Given the description of an element on the screen output the (x, y) to click on. 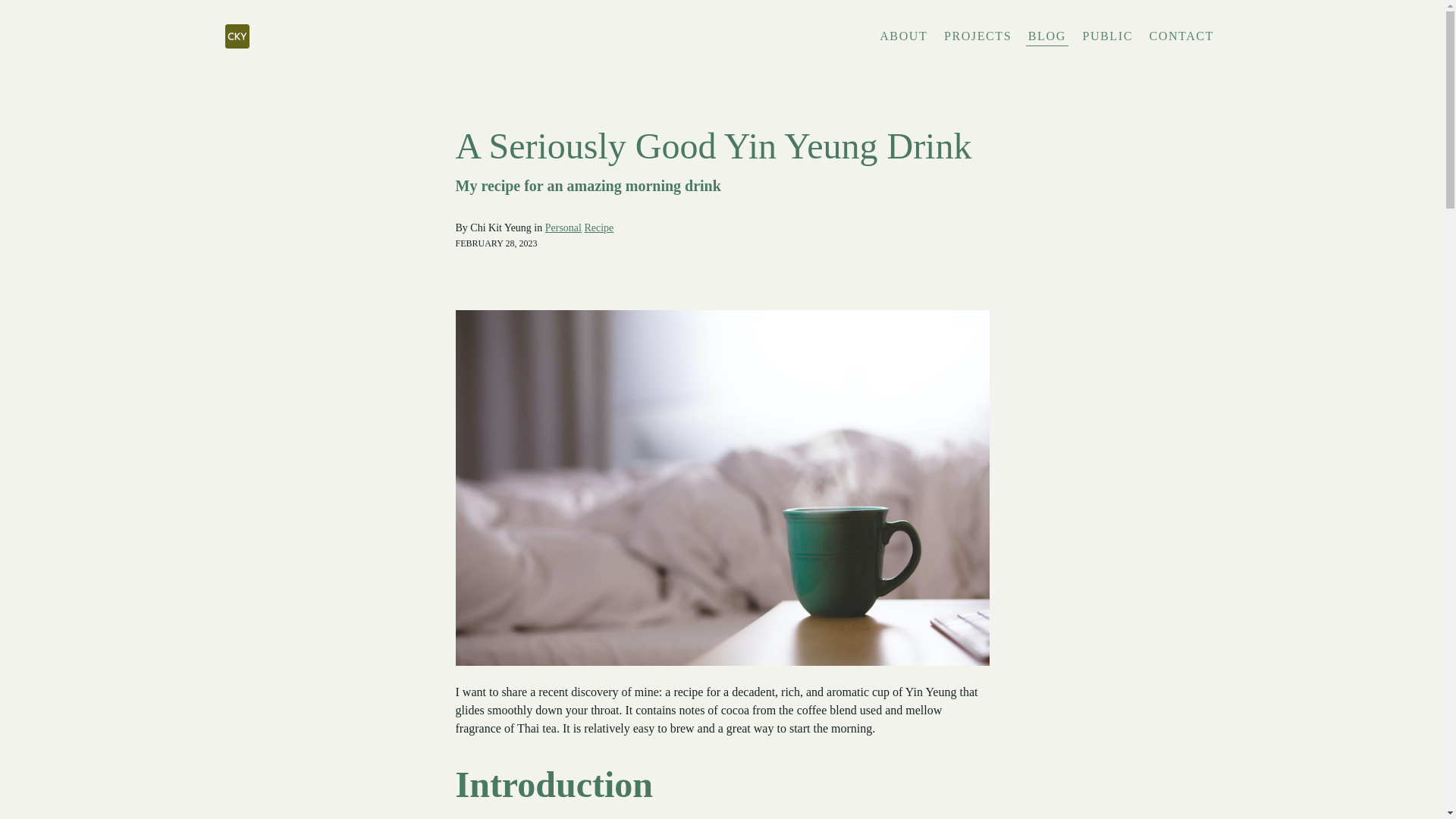
BLOG (1046, 35)
Blog (1046, 35)
ABOUT (903, 35)
PROJECTS (976, 35)
Personal (562, 227)
About (903, 35)
Contact (1181, 35)
Public (1106, 35)
Home (388, 36)
Project Portfolio (976, 35)
CONTACT (1181, 35)
PUBLIC (1106, 35)
Recipe (597, 227)
